Given the description of an element on the screen output the (x, y) to click on. 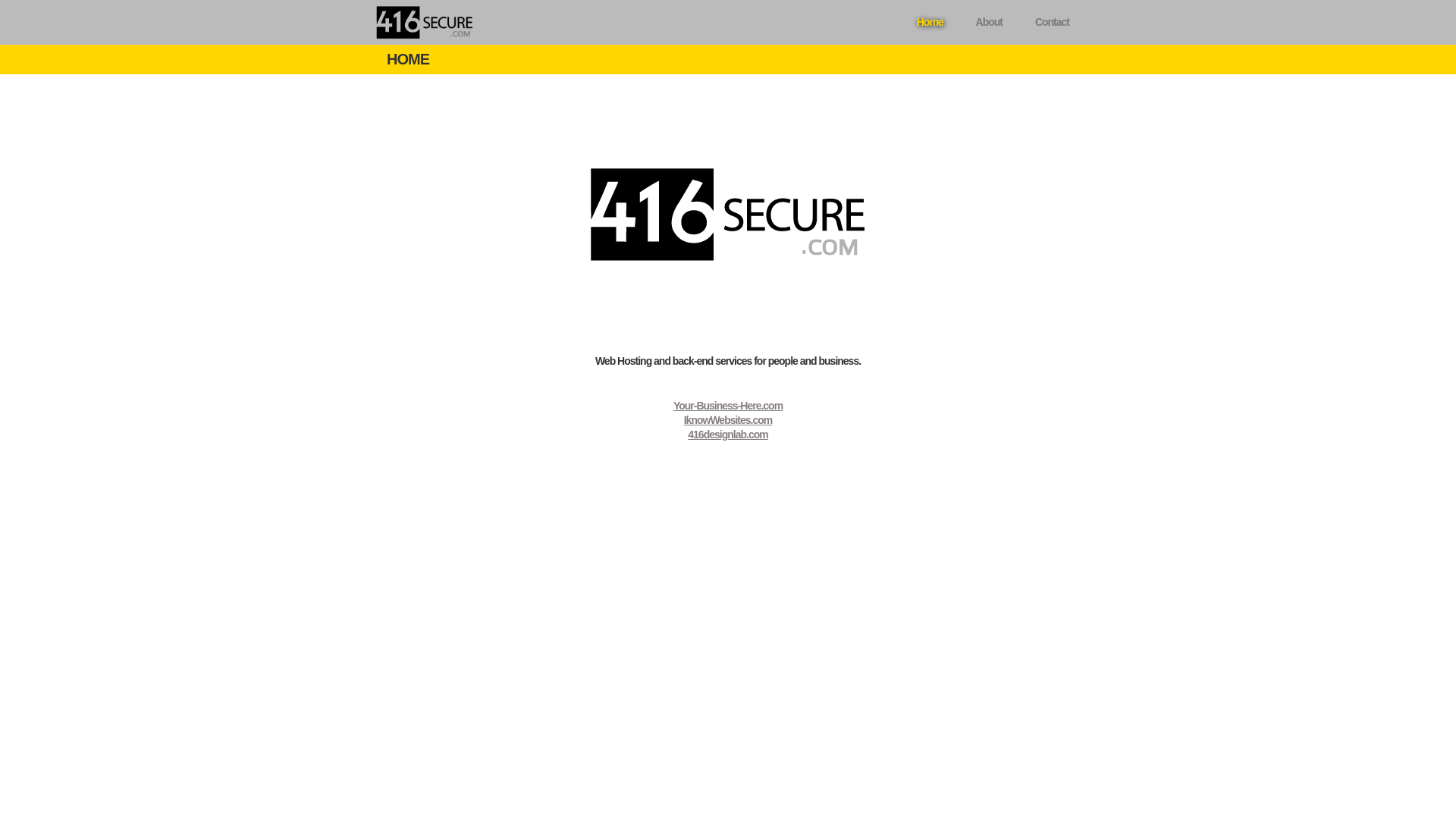
IknowWebsites.com Element type: text (727, 420)
Home Element type: text (929, 22)
Contact Element type: text (1051, 22)
About Element type: text (988, 22)
416designlab.com Element type: text (727, 434)
Your-Business-Here.com Element type: text (727, 405)
